Given the description of an element on the screen output the (x, y) to click on. 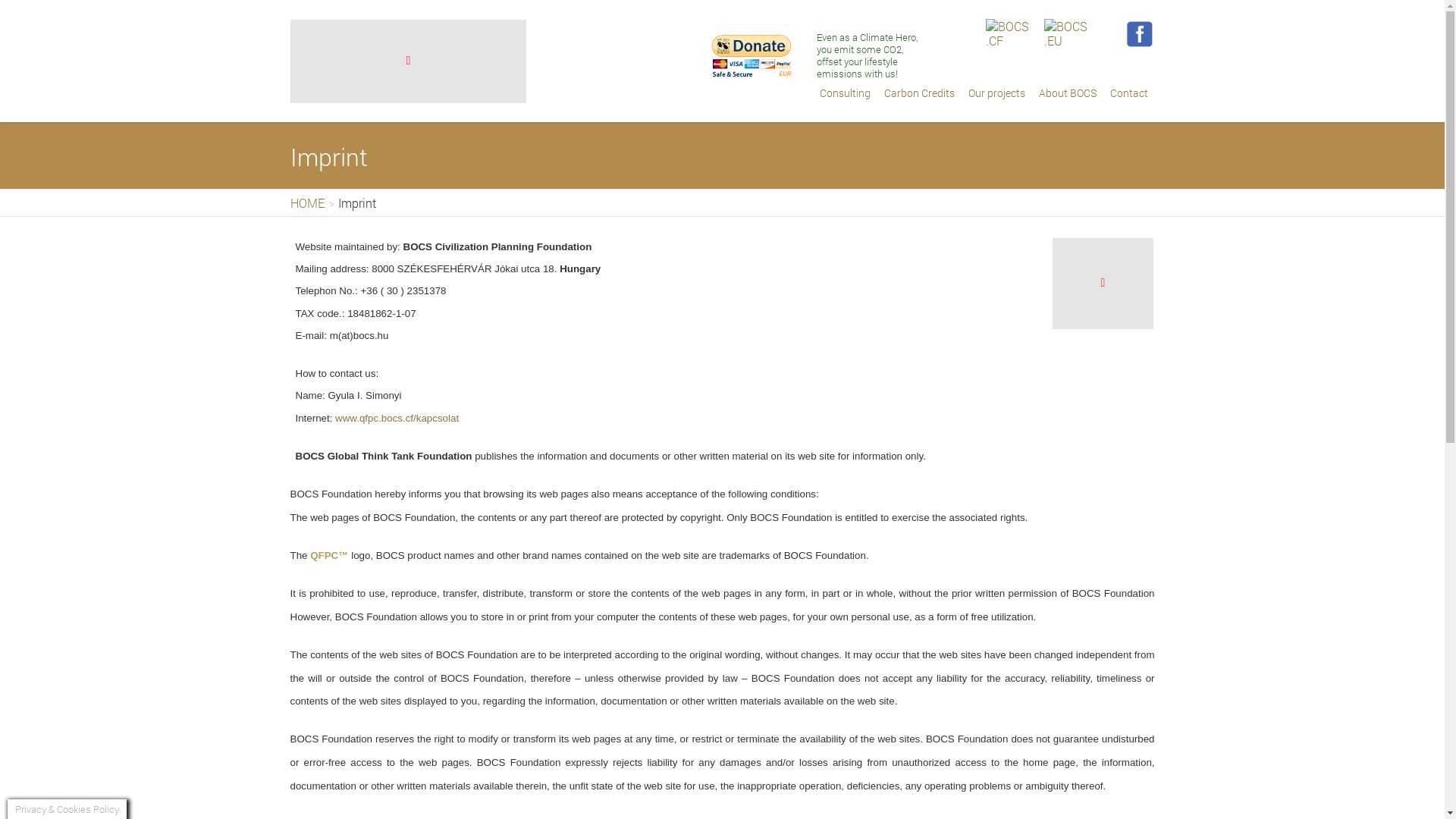
Consulting Element type: text (844, 93)
Our projects Element type: text (996, 93)
About BOCS Element type: text (1066, 93)
HOME Element type: text (306, 202)
Carbon Credits Element type: text (918, 93)
Contact Element type: text (1128, 93)
BOCS.EU Element type: hover (1064, 35)
www.qfpc.bocs.cf/kapcsolat Element type: text (396, 417)
BOCS.EU - Facebook >> Element type: hover (1139, 33)
BOCS.CF Element type: hover (1007, 35)
